Given the description of an element on the screen output the (x, y) to click on. 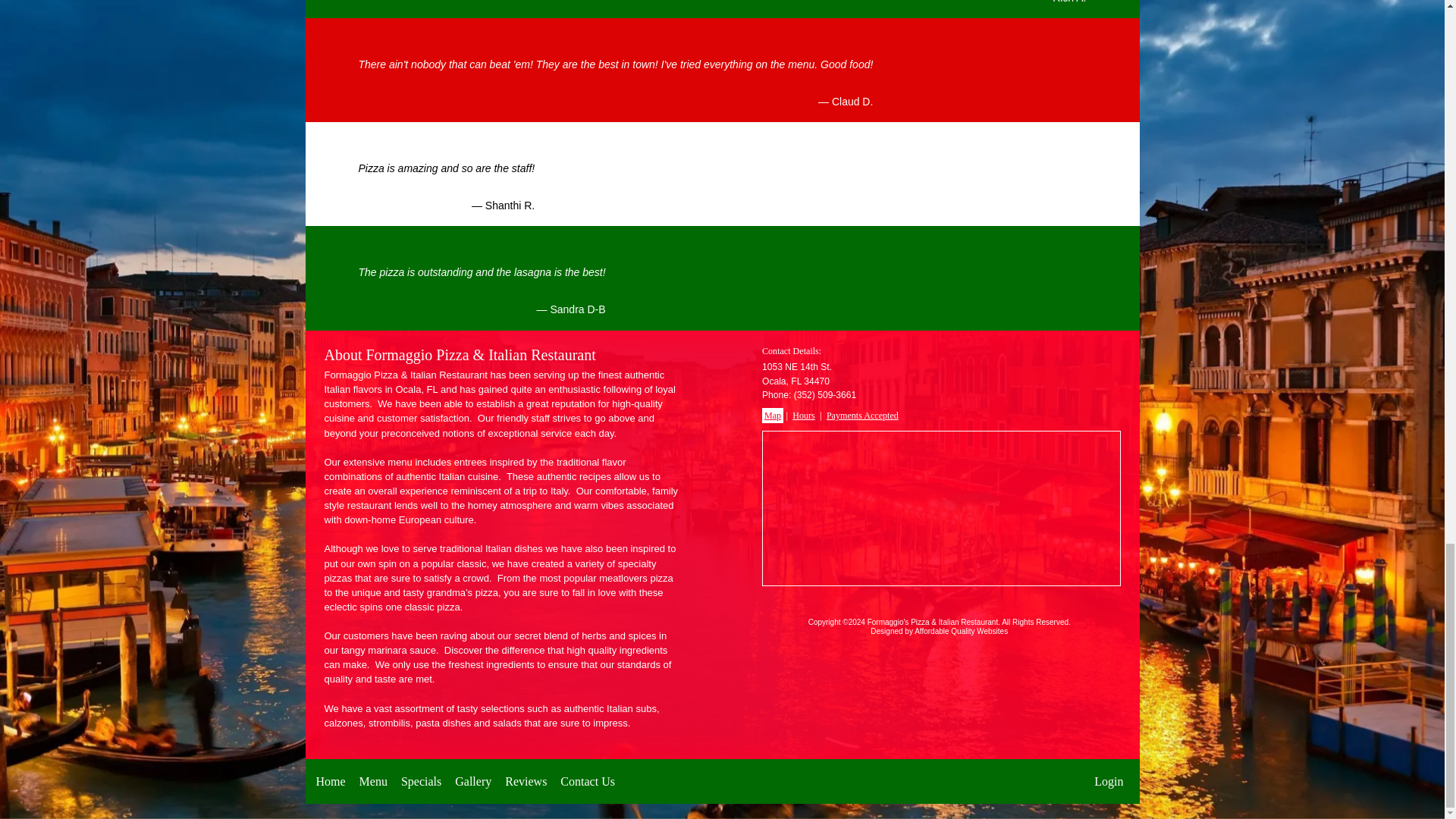
Menu (373, 781)
Map (772, 415)
Designed by Affordable Quality Websites (938, 631)
Gallery (473, 781)
Contact Us (587, 781)
Payments Accepted (862, 415)
Specials (421, 781)
Login (1108, 781)
Hours (803, 415)
Reviews (526, 781)
Home (330, 781)
